Given the description of an element on the screen output the (x, y) to click on. 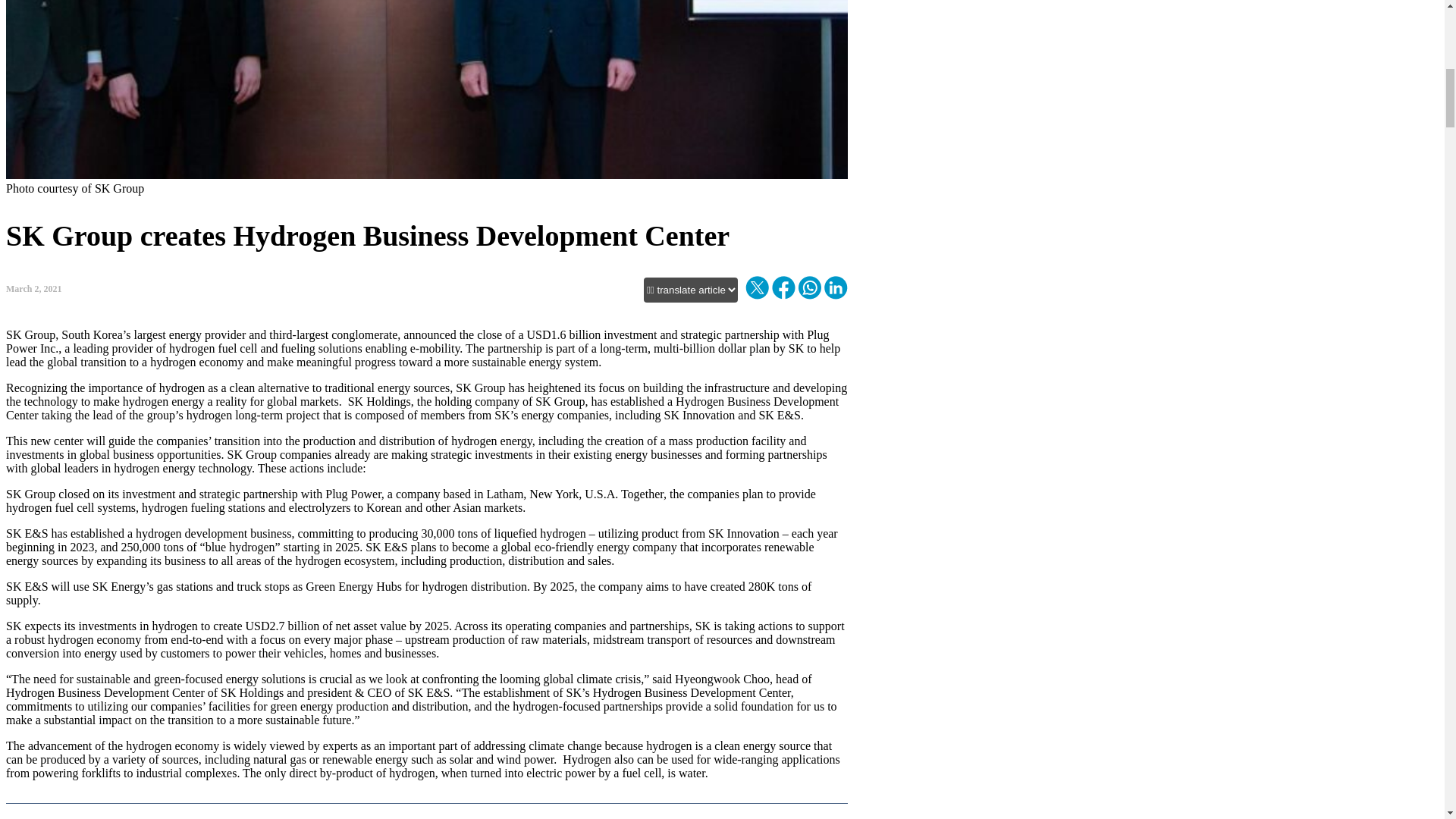
March 2, 2021 (33, 288)
